Given the description of an element on the screen output the (x, y) to click on. 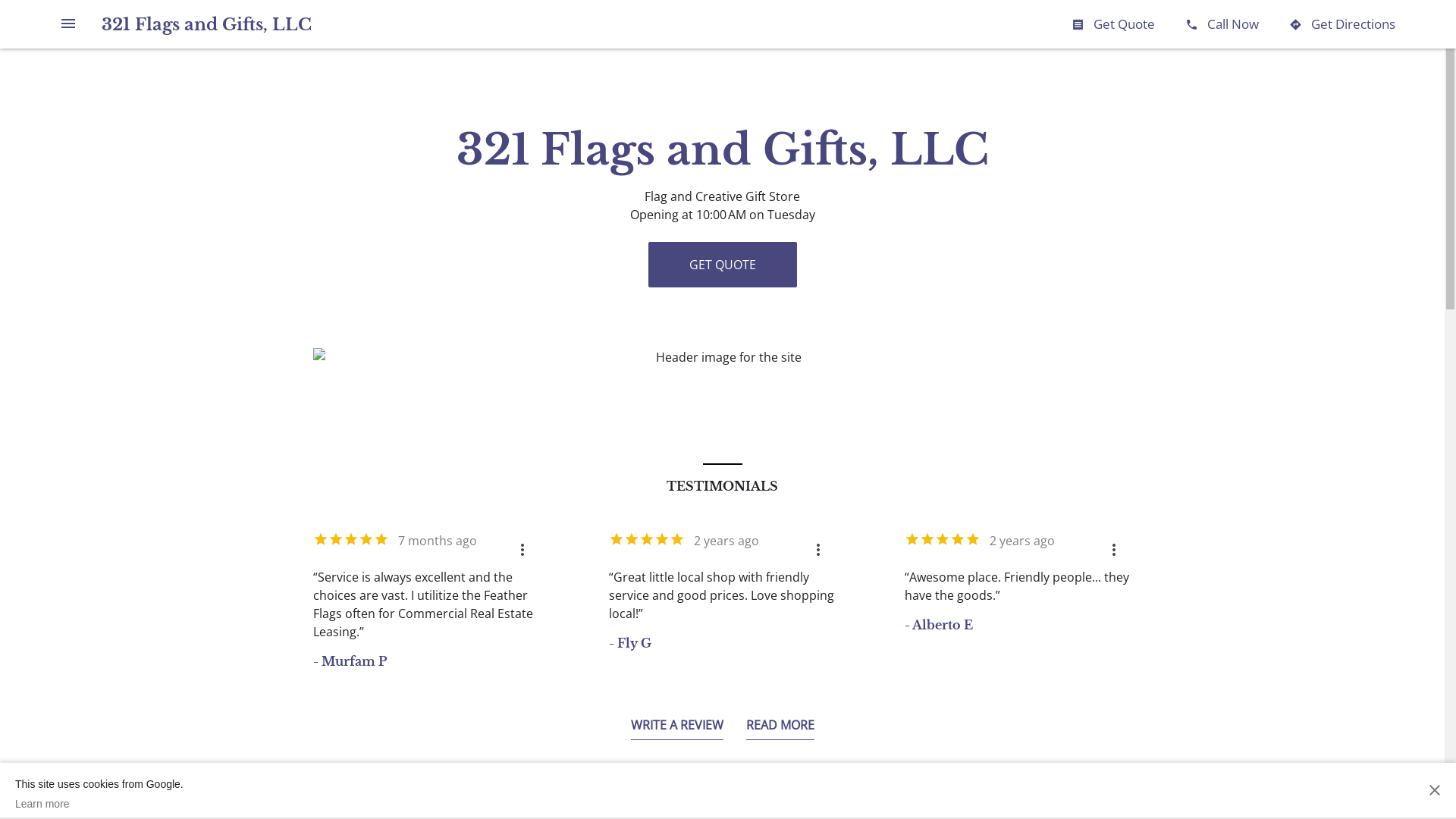
321 Flags and Gifts, LLC Element type: text (206, 23)
GET QUOTE Element type: text (721, 264)
READ MORE Element type: text (780, 728)
Learn more Element type: text (99, 803)
WRITE A REVIEW Element type: text (676, 728)
